Given the description of an element on the screen output the (x, y) to click on. 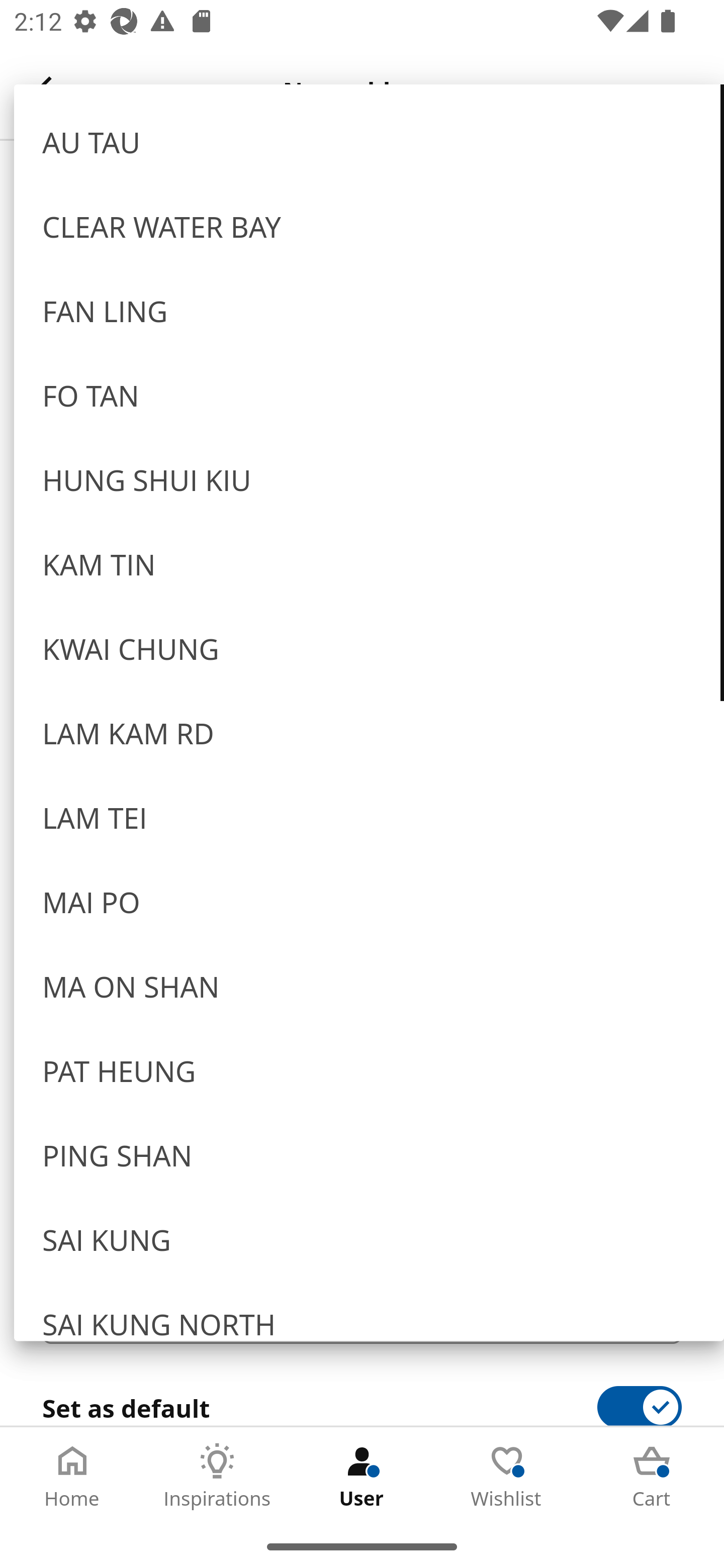
AU TAU (368, 140)
CLEAR WATER BAY (368, 225)
FAN LING (368, 309)
FO TAN (368, 393)
HUNG SHUI KIU (368, 477)
KAM TIN (368, 562)
KWAI CHUNG (368, 647)
LAM KAM RD (368, 731)
LAM TEI (368, 815)
MAI PO (368, 899)
MA ON SHAN (368, 984)
PAT HEUNG (368, 1069)
PING SHAN (368, 1153)
SAI KUNG (368, 1238)
SAI KUNG NORTH (368, 1310)
Home
Tab 1 of 5 (72, 1476)
Inspirations
Tab 2 of 5 (216, 1476)
User
Tab 3 of 5 (361, 1476)
Wishlist
Tab 4 of 5 (506, 1476)
Cart
Tab 5 of 5 (651, 1476)
